Given the description of an element on the screen output the (x, y) to click on. 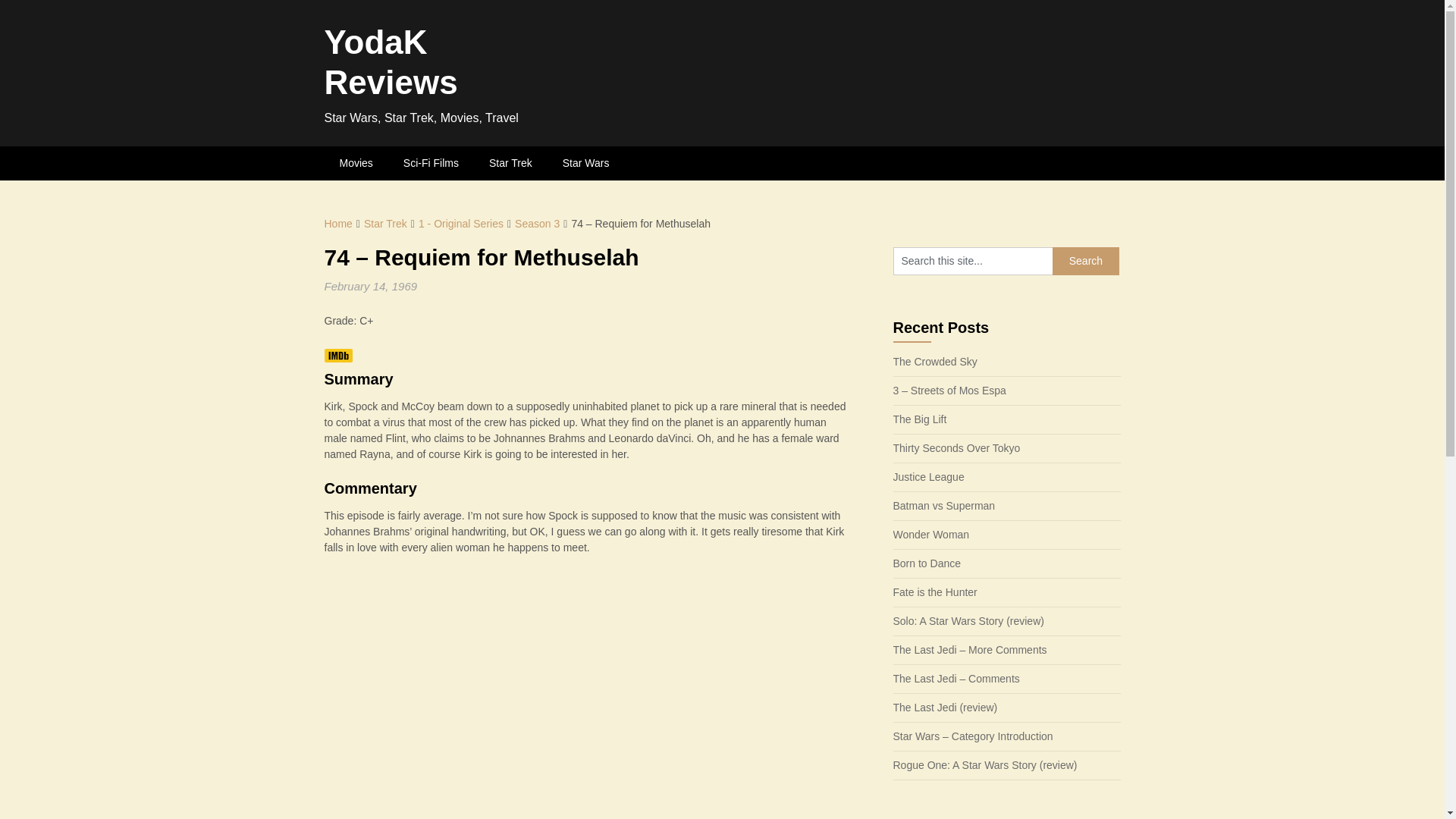
Search (1085, 261)
Movies (356, 163)
Sci-Fi Films (431, 163)
YodaK Reviews (391, 61)
Search this site... (972, 261)
TOS 3x19 'Requiem for Methuselah' Trailer (581, 694)
Star Trek (510, 163)
